Given the description of an element on the screen output the (x, y) to click on. 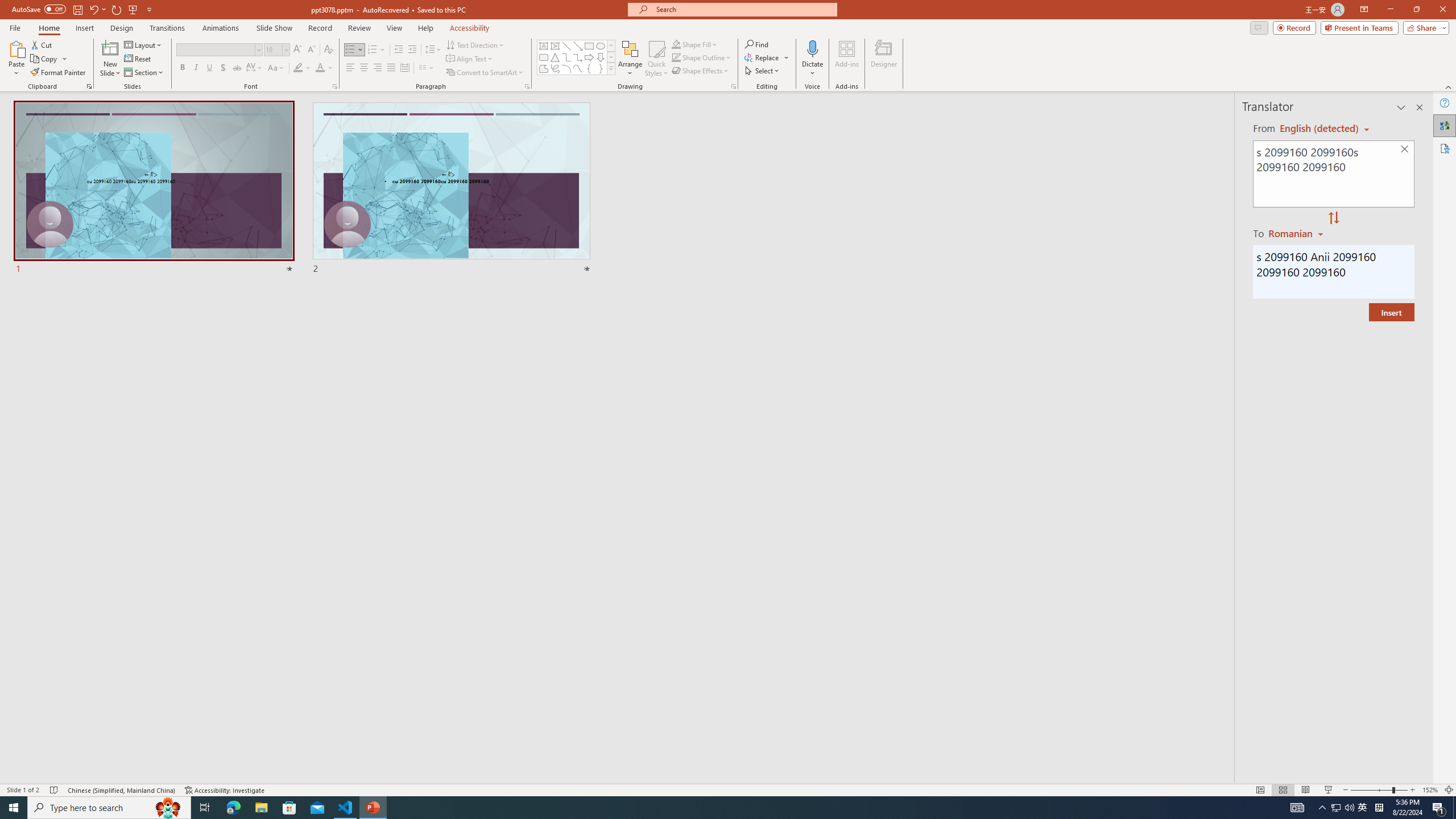
Left Brace (589, 68)
Translator (1444, 125)
Text Box (543, 45)
Convert to SmartArt (485, 72)
Font Color (324, 67)
Rectangle (589, 45)
Connector: Elbow Arrow (577, 57)
Layout (143, 44)
